Given the description of an element on the screen output the (x, y) to click on. 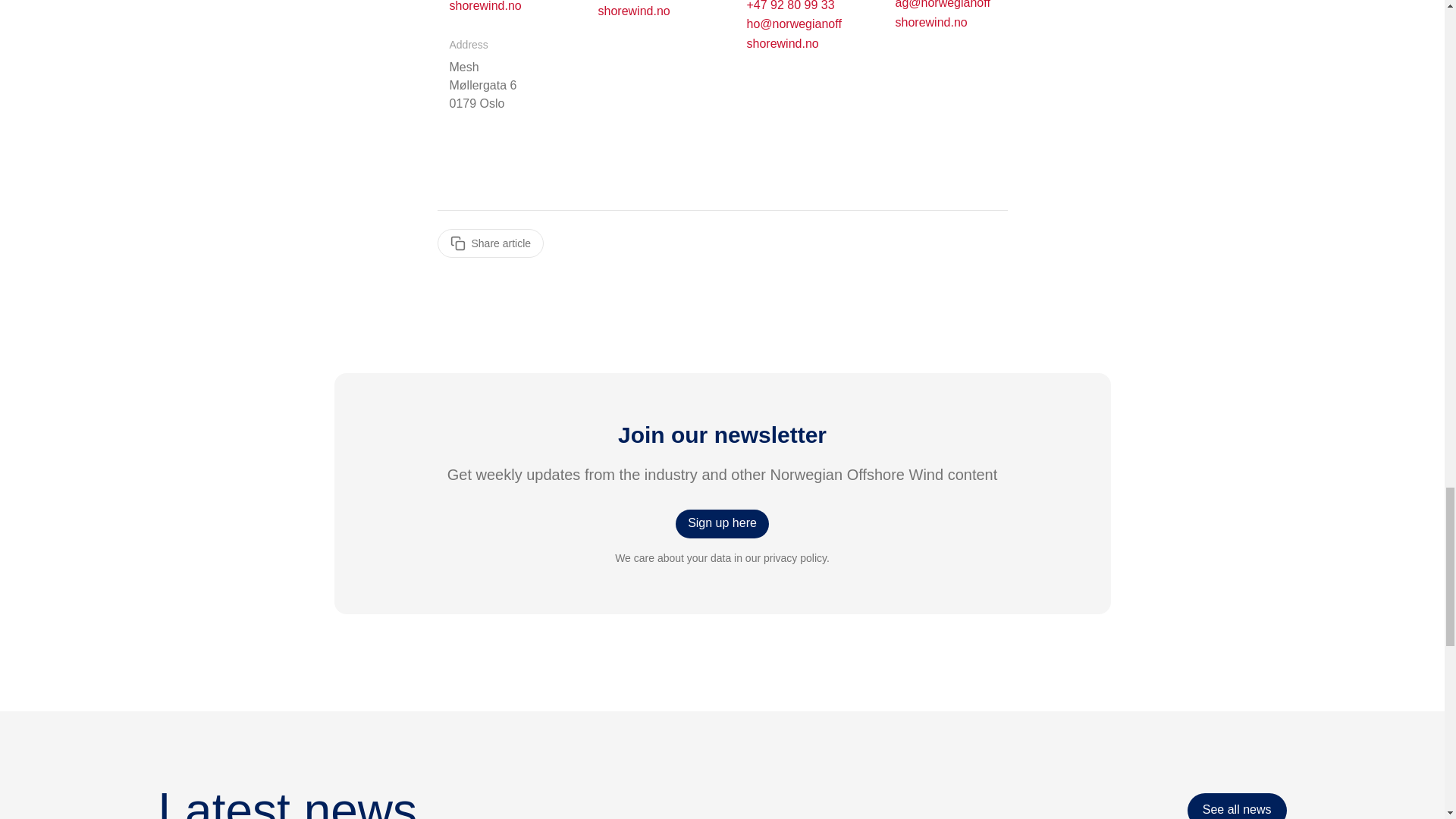
privacy policy (794, 558)
See all news (1237, 806)
Share article (489, 243)
Sign up here (721, 523)
